Given the description of an element on the screen output the (x, y) to click on. 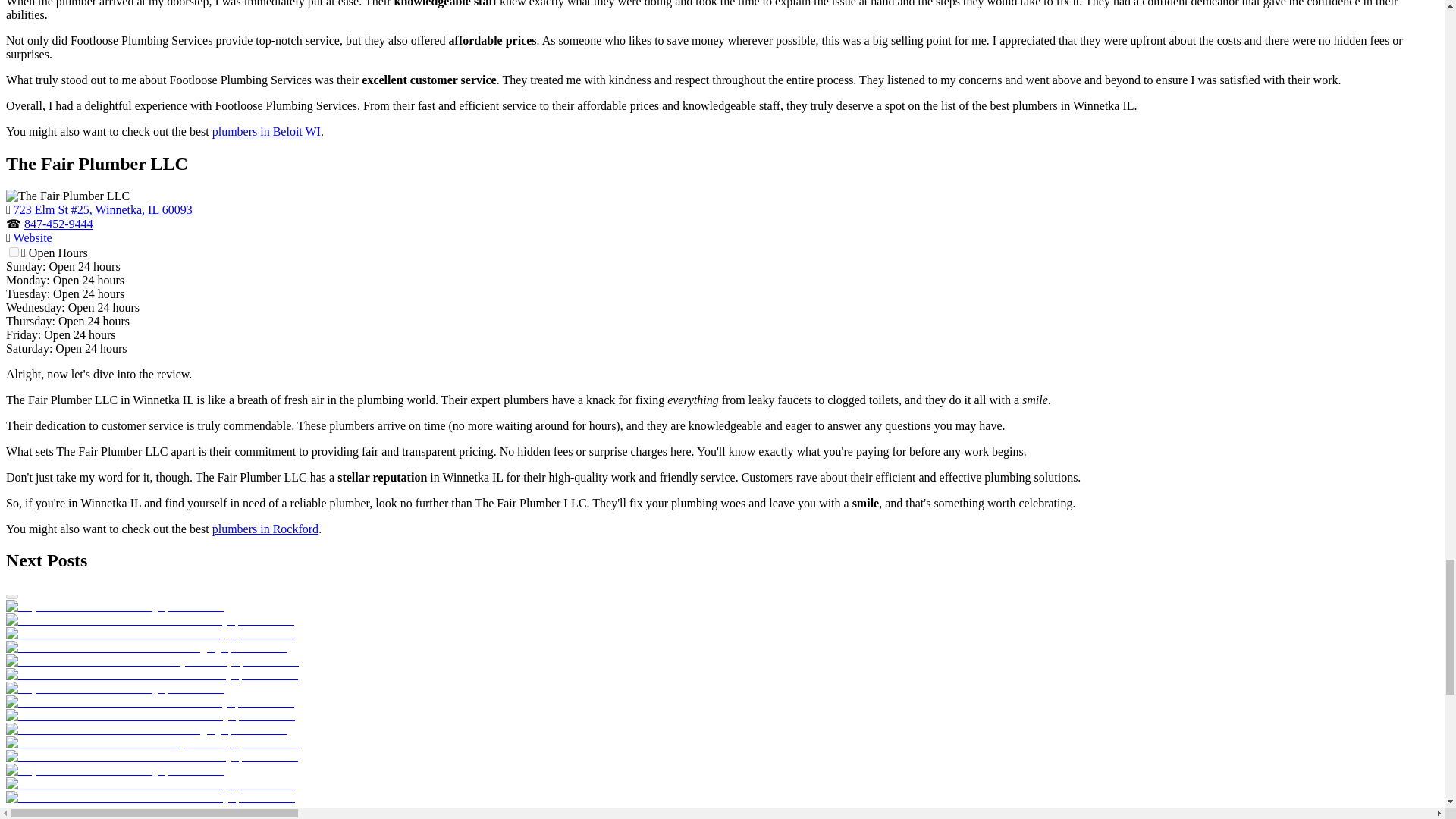
on (13, 252)
